Given the description of an element on the screen output the (x, y) to click on. 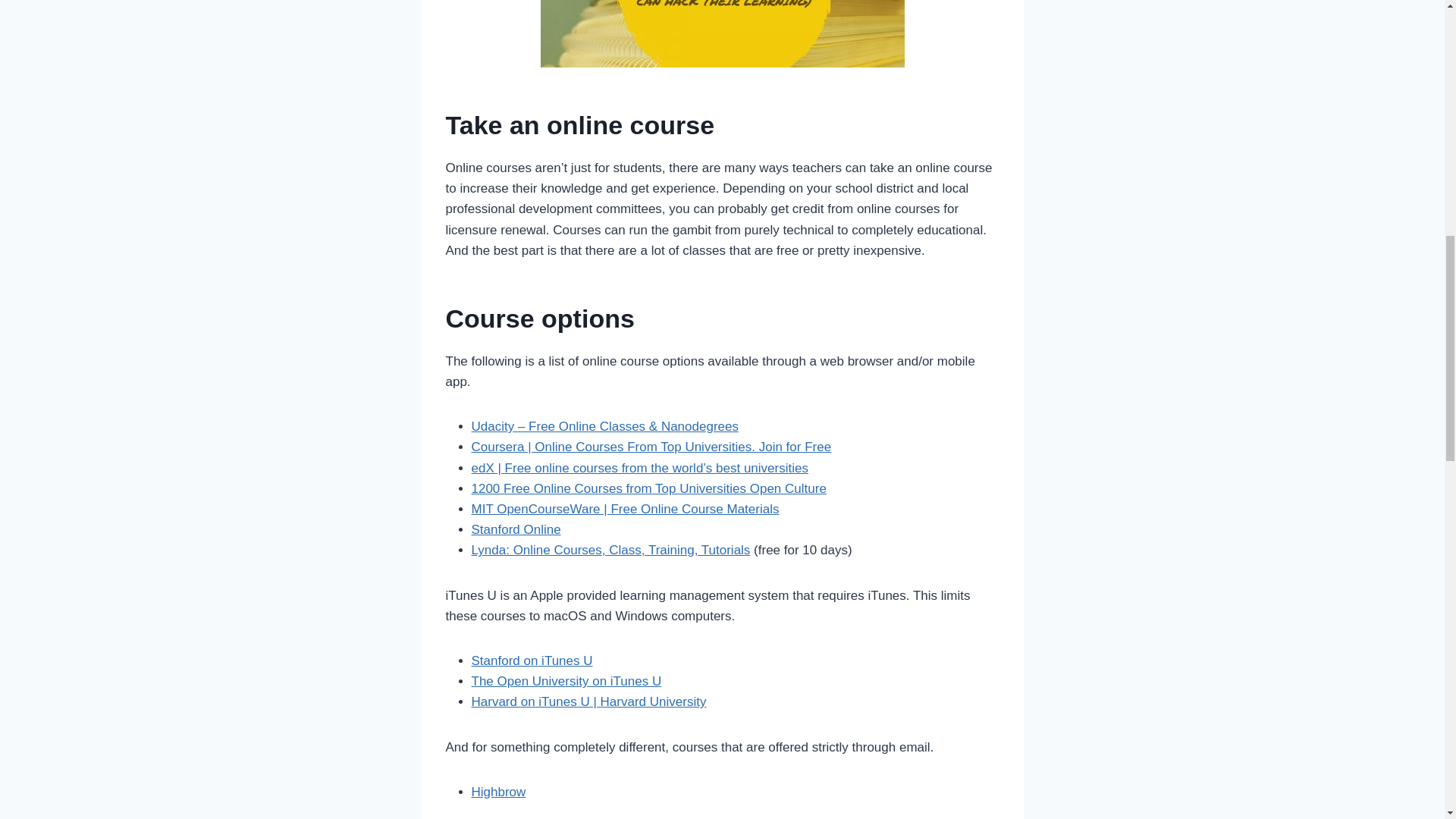
Stanford on iTunes U (531, 660)
Stanford Online (515, 529)
1200 Free Online Courses from Top Universities Open Culture (649, 488)
Highbrow (498, 791)
Lynda: Online Courses, Class, Training, Tutorials (611, 549)
The Open University on iTunes U (566, 681)
